Given the description of an element on the screen output the (x, y) to click on. 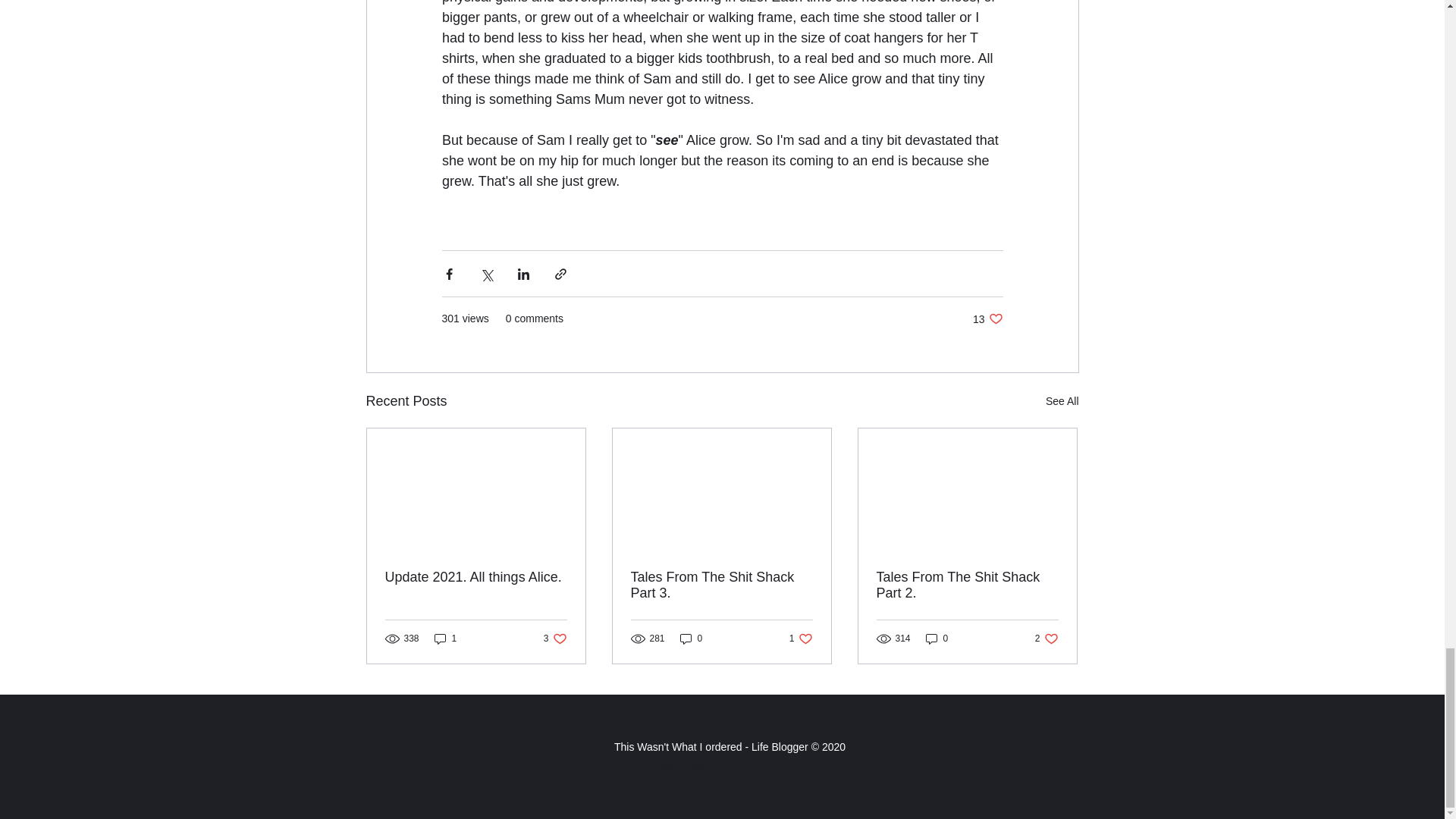
See All (1061, 401)
0 (937, 638)
Update 2021. All things Alice. (476, 577)
www.thiswasntwhatiordered.com (729, 766)
0 (1046, 638)
1 (691, 638)
Tales From The Shit Shack Part 3. (445, 638)
Tales From The Shit Shack Part 2. (800, 638)
